Given the description of an element on the screen output the (x, y) to click on. 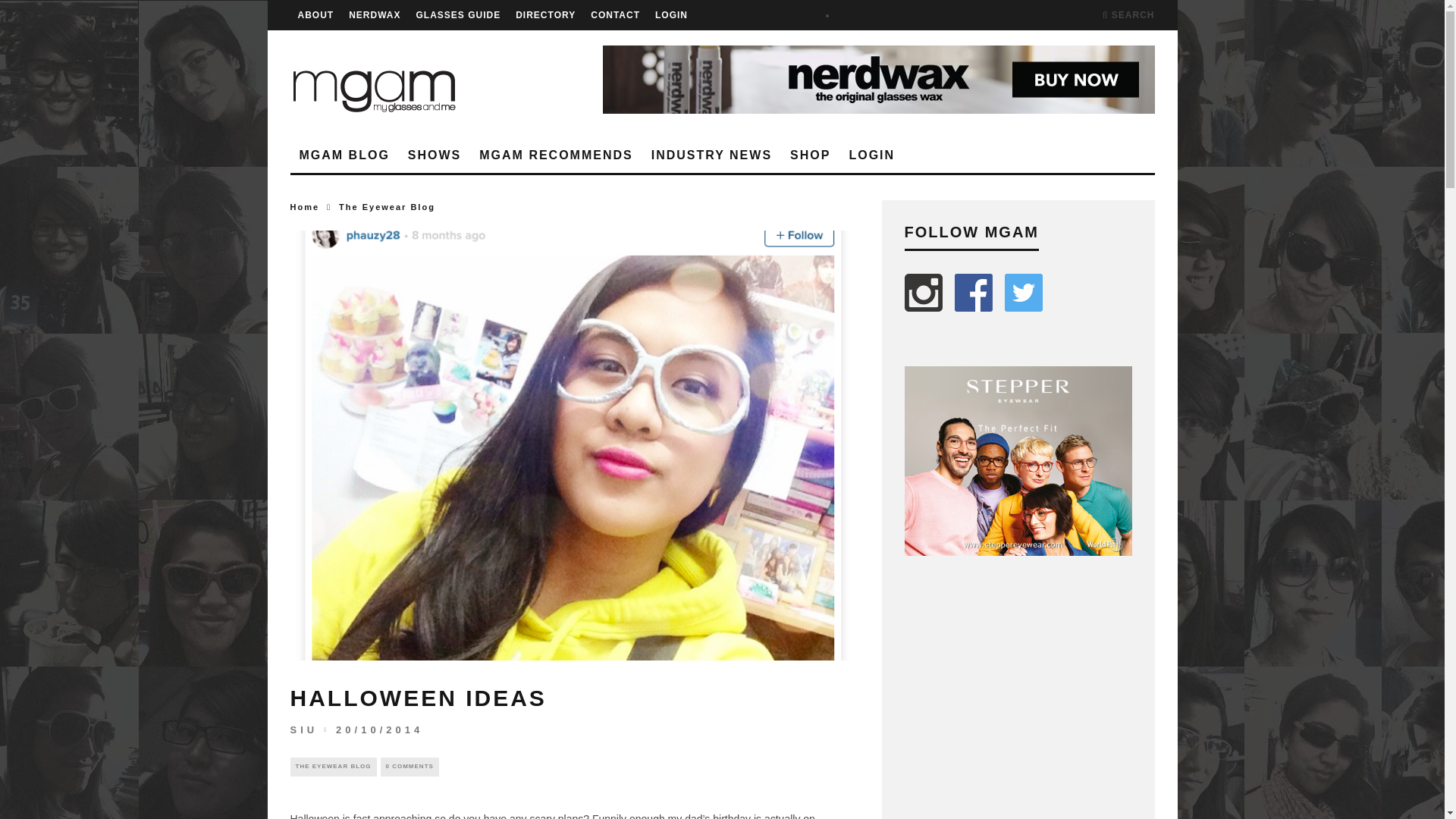
Advertisement (1017, 697)
Login (671, 15)
Search (1128, 15)
Stepper Eyewear (1017, 461)
ABOUT (315, 15)
MGAM BLOG (343, 155)
View all posts in The Eyewear Blog (332, 766)
NERDWAX (374, 15)
SHOWS (434, 155)
GLASSES GUIDE (458, 15)
